Given the description of an element on the screen output the (x, y) to click on. 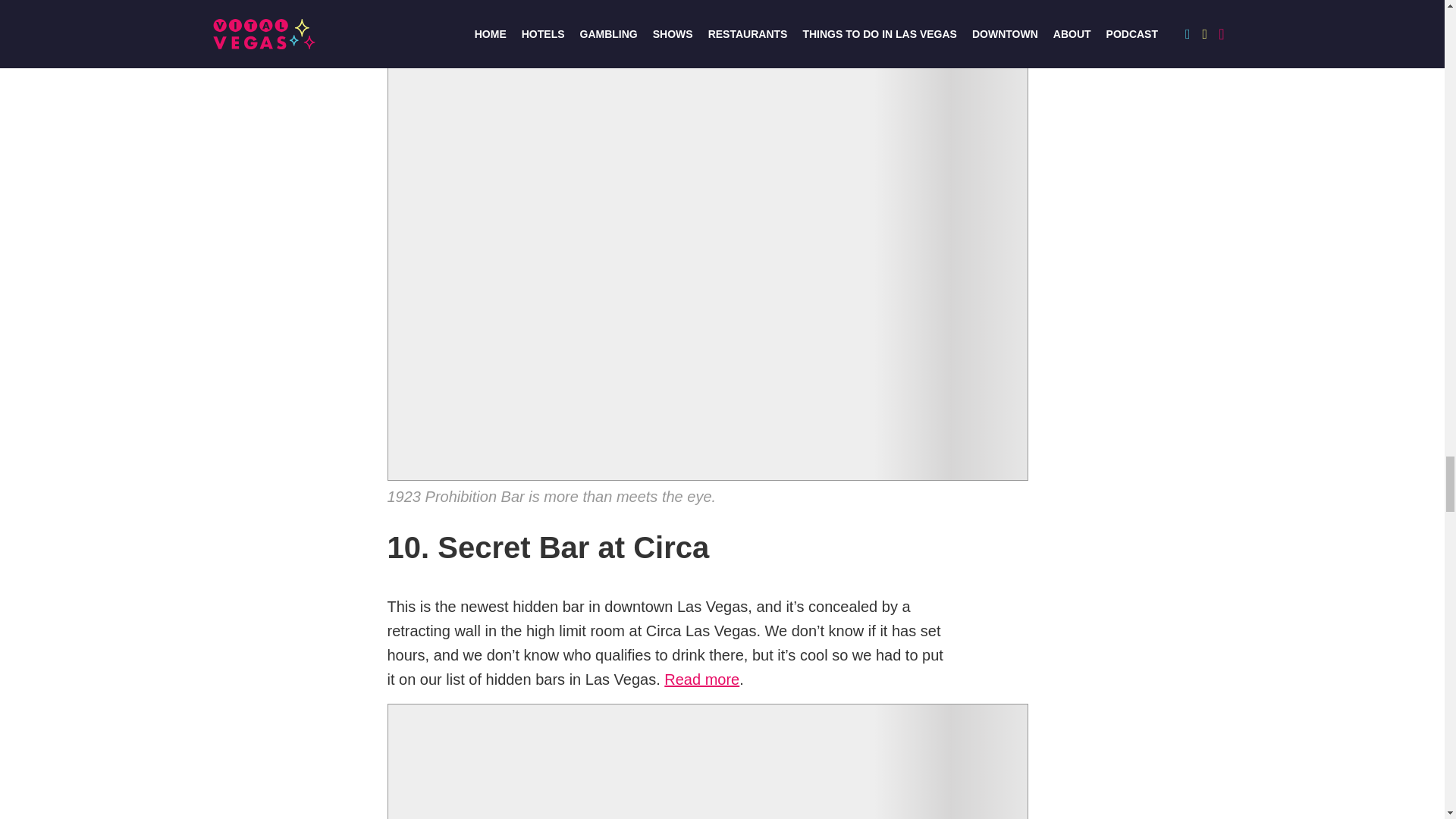
Read more (701, 679)
